Given the description of an element on the screen output the (x, y) to click on. 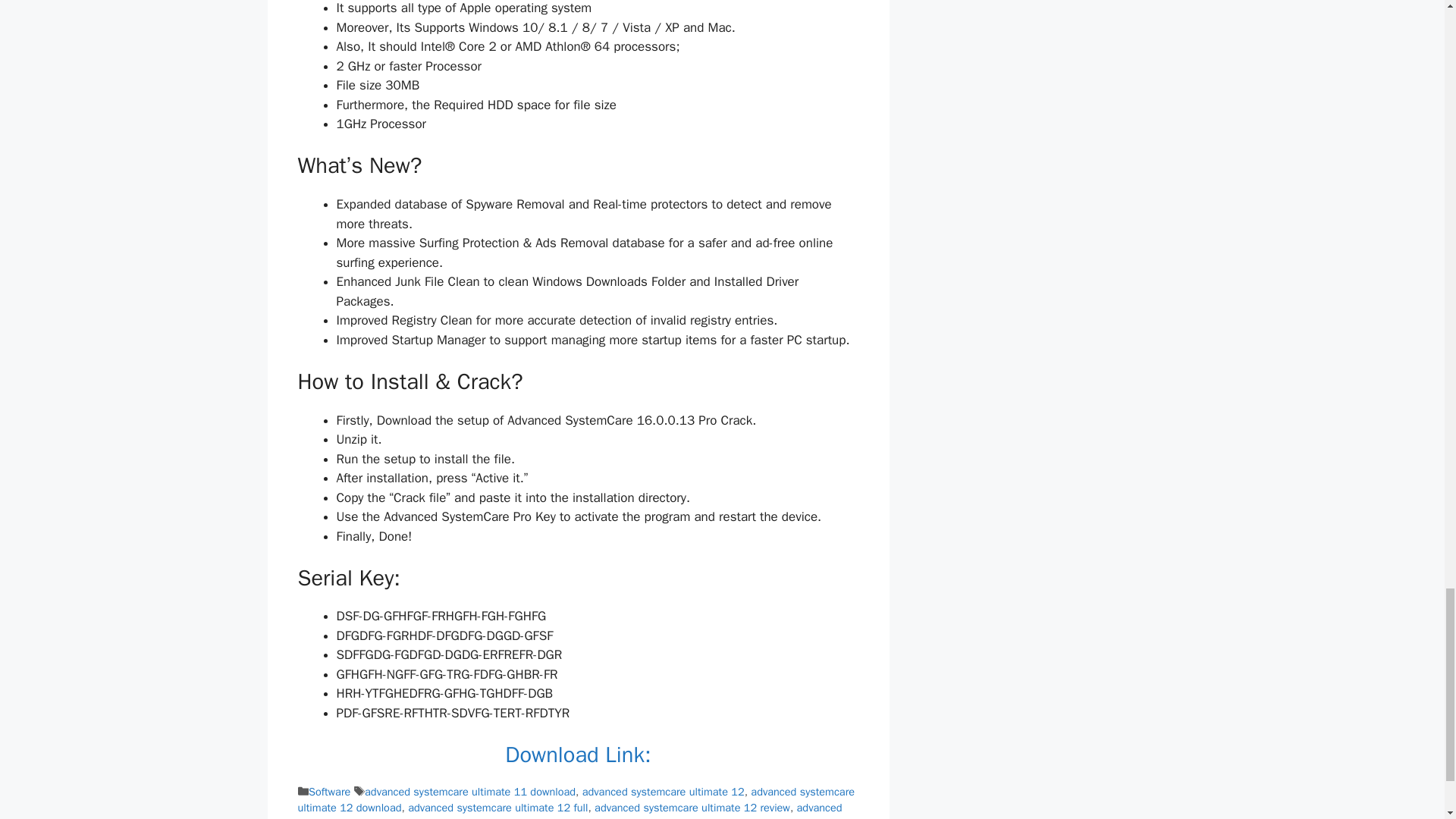
advanced systemcare ultimate 11 download (470, 791)
Download Link: (577, 755)
advanced systemcare ultimate 12 review (692, 807)
advanced systemcare ultimate 12 download (575, 799)
advanced systemcare ultimate 12 (663, 791)
advanced systemcare ultimate 12 full (497, 807)
advanced systemcare ultimate full version (569, 809)
Software (329, 791)
